Given the description of an element on the screen output the (x, y) to click on. 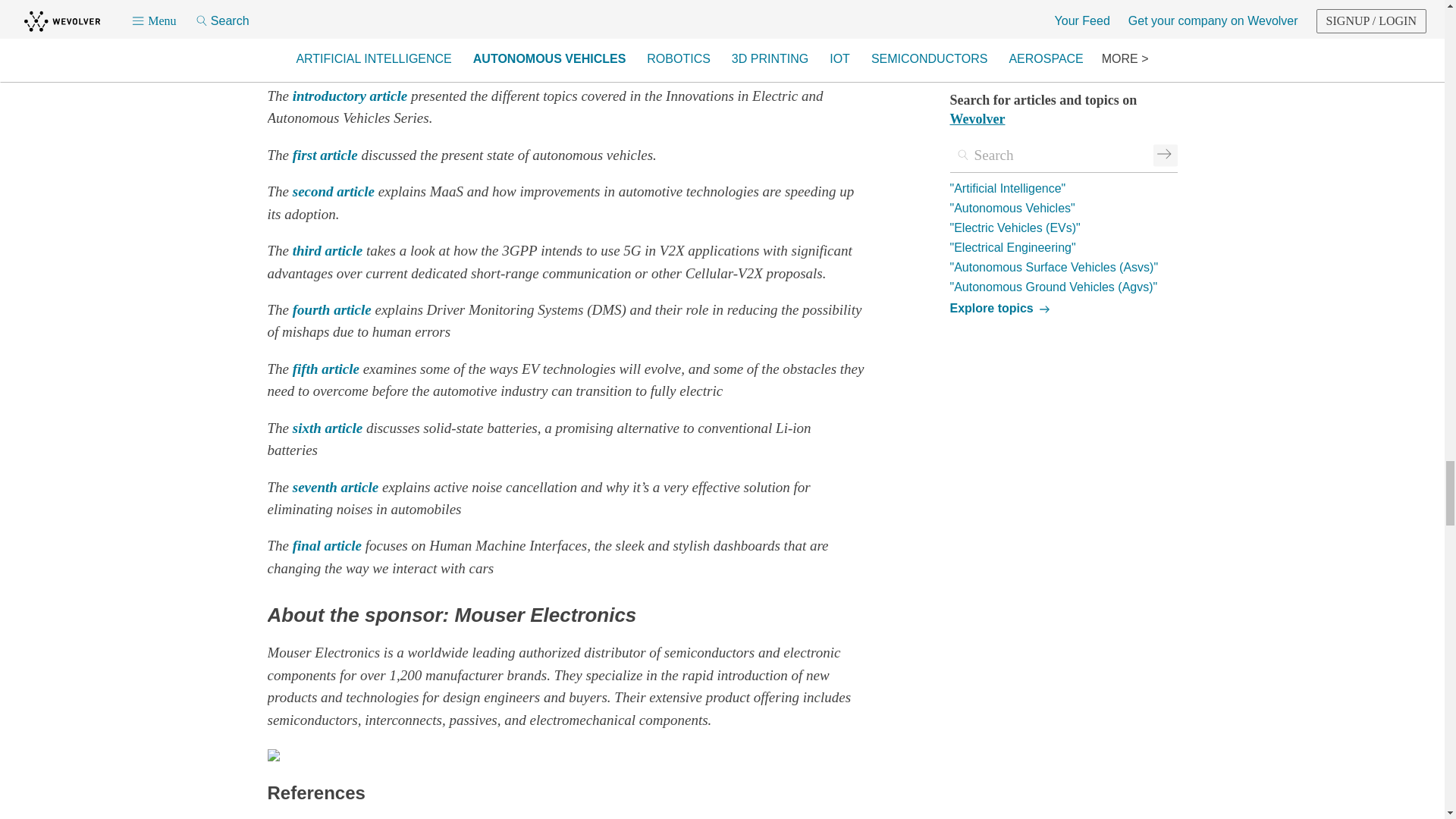
third article (327, 250)
sixth article (327, 427)
Ravi Y Rao (529, 14)
fifth article (325, 368)
seventh article (335, 487)
introductory article (349, 95)
fourth article (331, 309)
first article (325, 154)
second article (333, 191)
final article (326, 545)
